Given the description of an element on the screen output the (x, y) to click on. 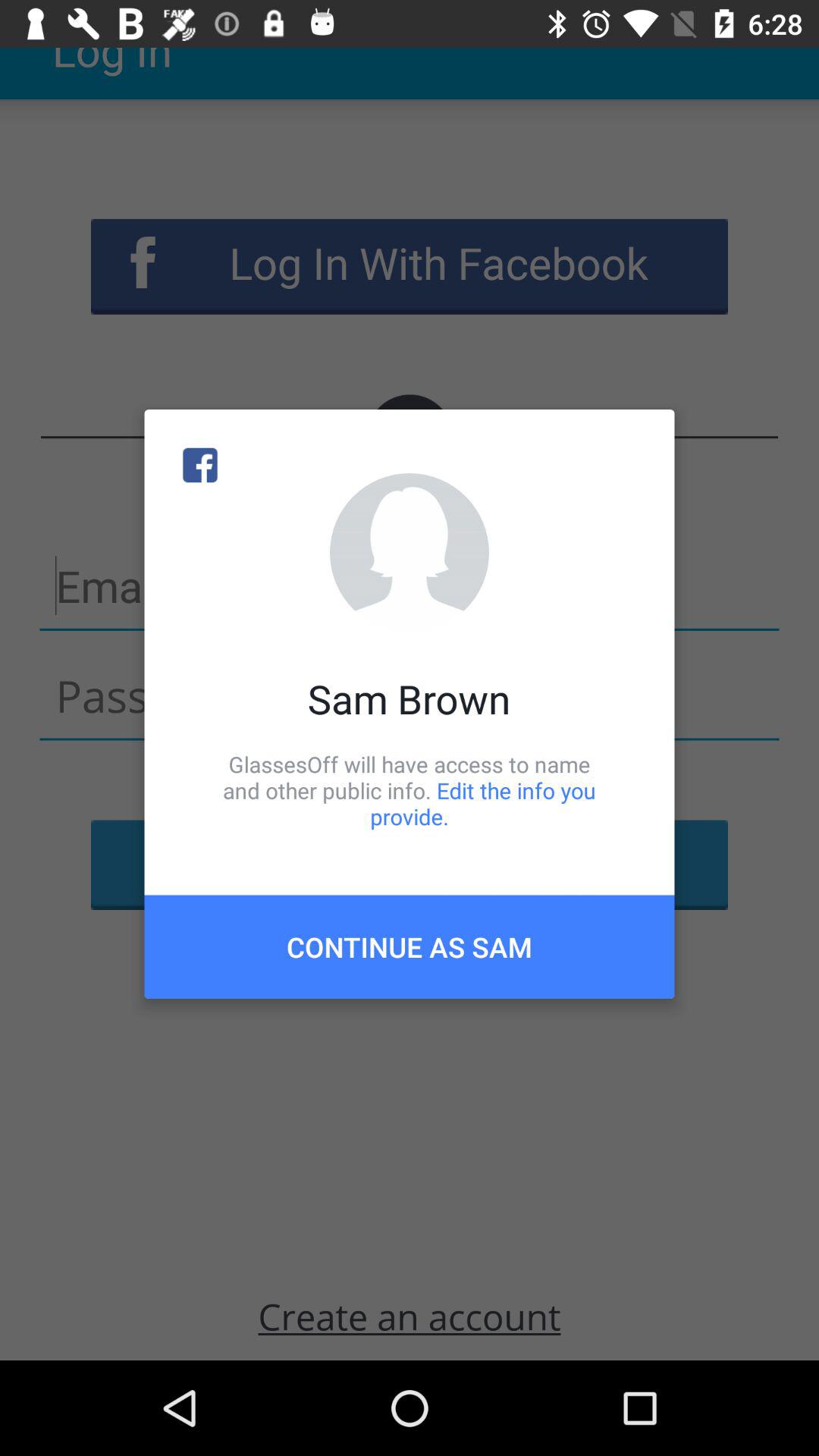
select glassesoff will have (409, 790)
